Given the description of an element on the screen output the (x, y) to click on. 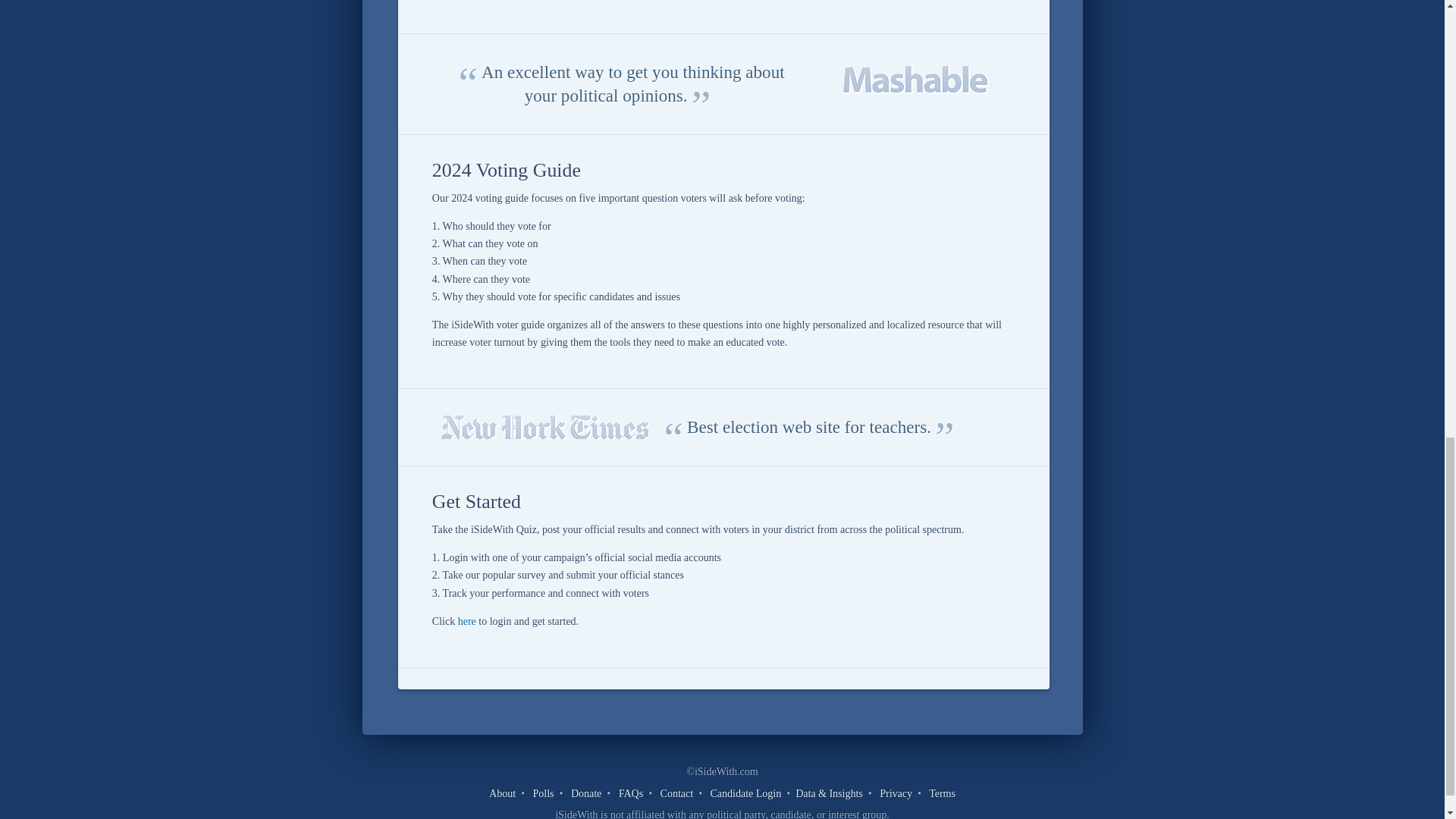
Candidate Login (745, 793)
here (467, 621)
Privacy (895, 793)
Polls (542, 793)
Donate (585, 793)
Terms (941, 793)
Contact (677, 793)
FAQs (630, 793)
About (502, 793)
